Given the description of an element on the screen output the (x, y) to click on. 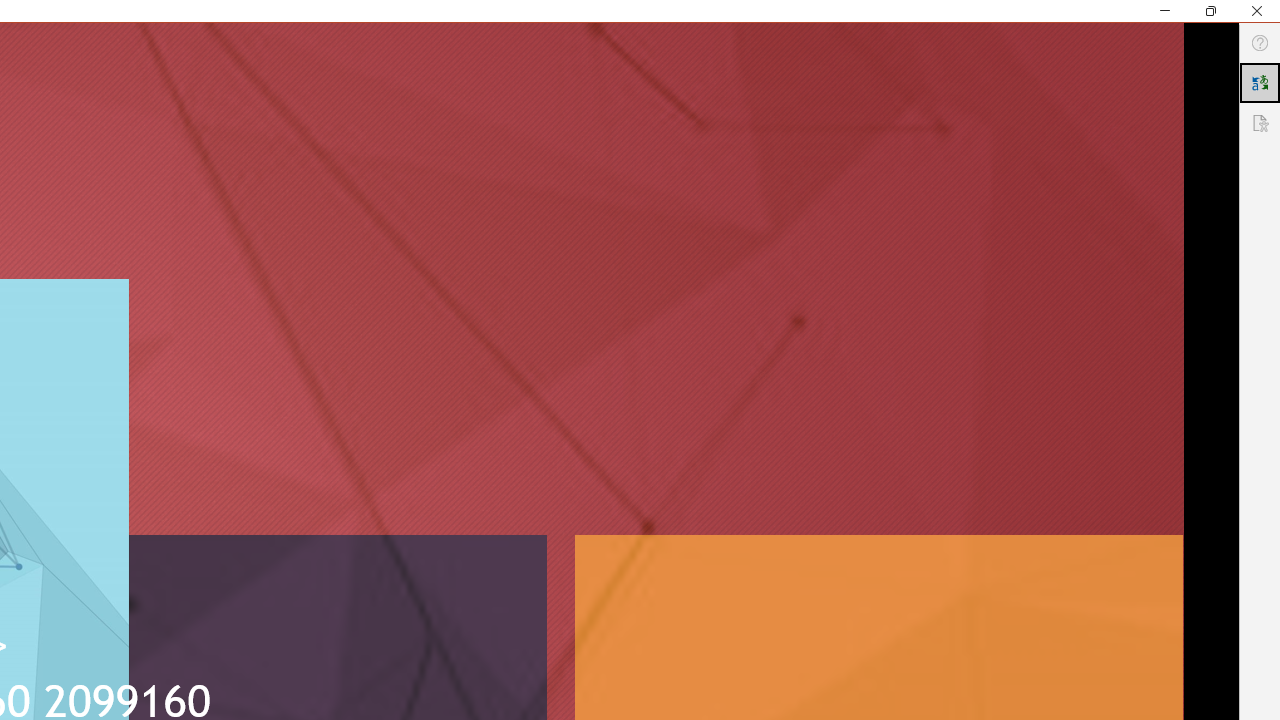
Translator (1260, 82)
